Given the description of an element on the screen output the (x, y) to click on. 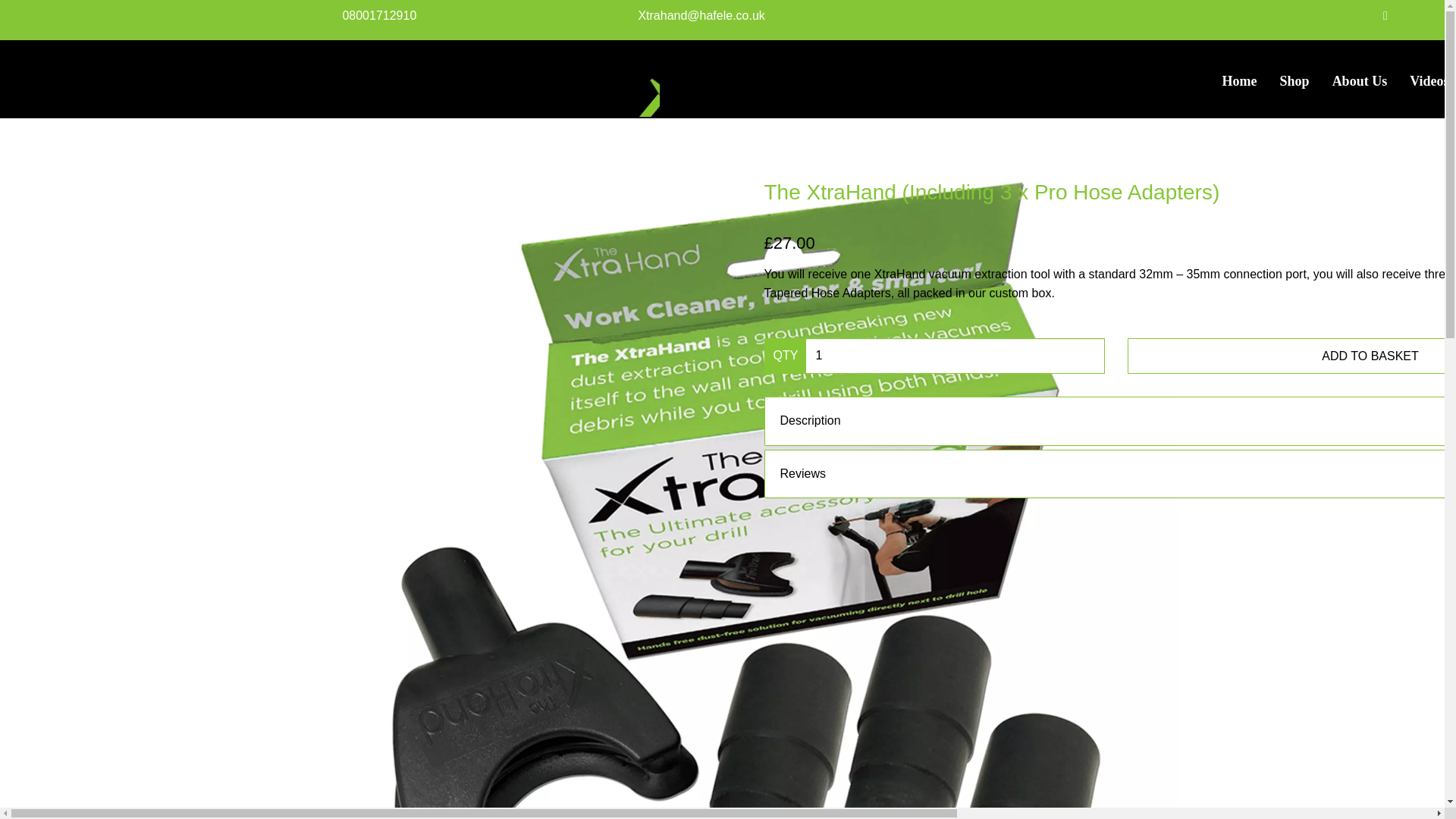
ADD TO BASKET (1291, 355)
Videos (1426, 80)
Reviews (1110, 473)
Home (1239, 80)
Shop (1294, 80)
Description (1110, 421)
1 (954, 355)
08001712910 (379, 15)
About Us (1359, 80)
